Given the description of an element on the screen output the (x, y) to click on. 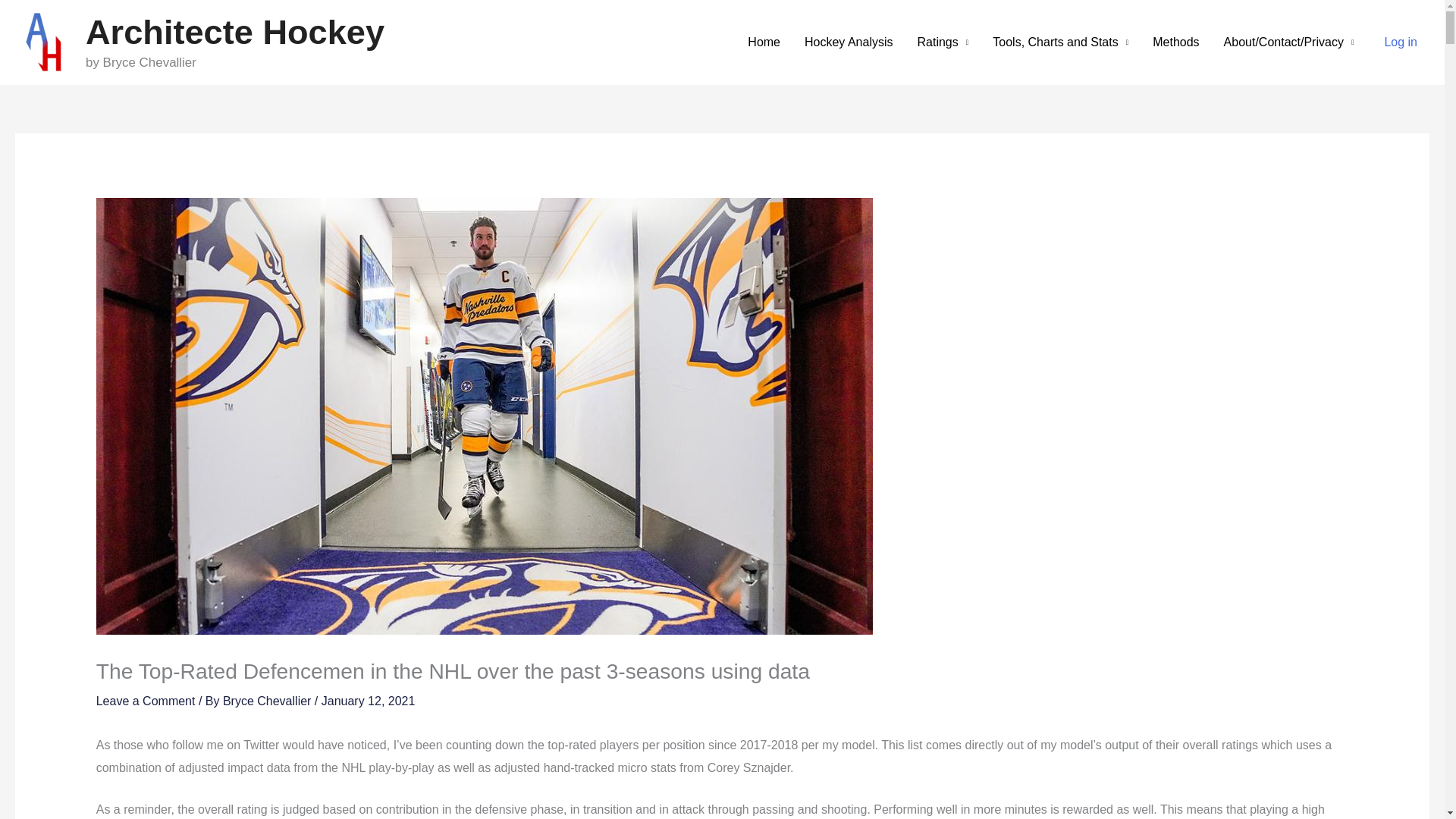
Hockey Analysis (848, 42)
Tools, Charts and Stats (1059, 42)
Leave a Comment (145, 700)
Methods (1175, 42)
View all posts by Bryce Chevallier (268, 700)
Ratings (943, 42)
Architecte Hockey (234, 32)
Bryce Chevallier (268, 700)
Log in (1400, 42)
Home (763, 42)
